Given the description of an element on the screen output the (x, y) to click on. 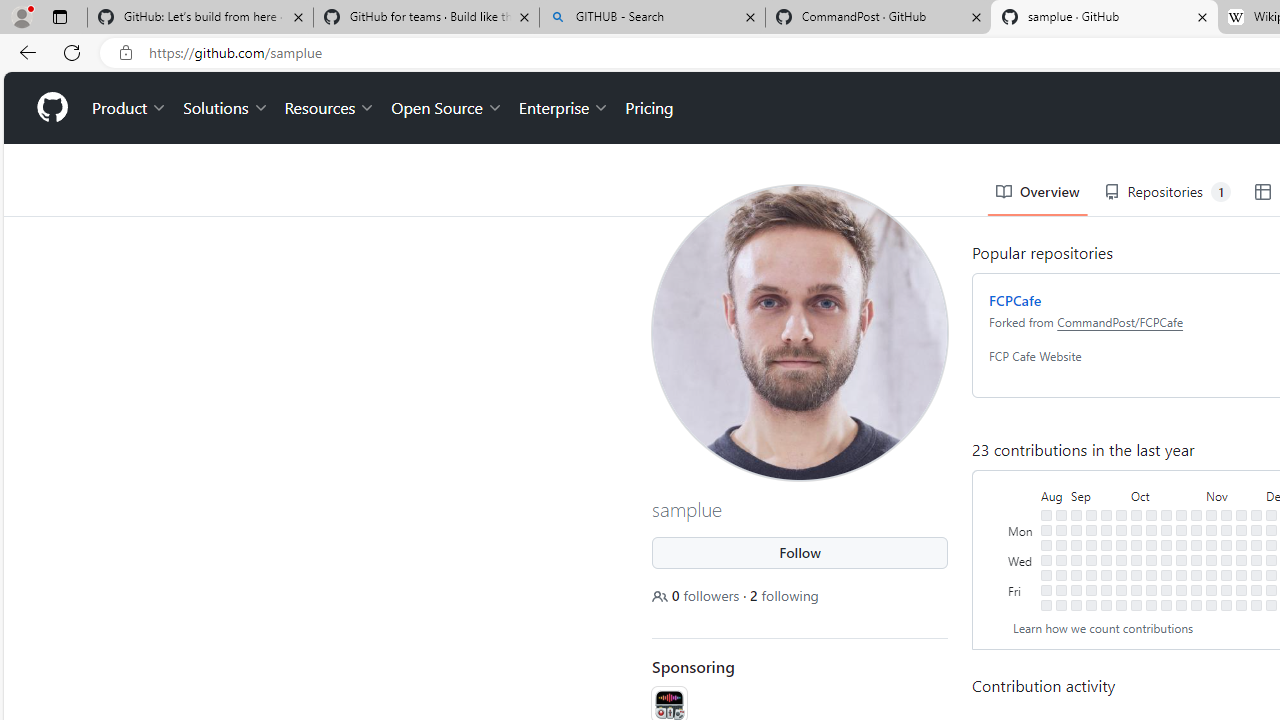
No contributions on November 18th. (1226, 605)
No contributions on October 13th. (1151, 589)
No contributions on November 9th. (1211, 574)
No contributions on October 8th. (1151, 515)
No contributions on September 4th. (1076, 529)
No contributions on September 22nd. (1106, 589)
No contributions on November 5th. (1211, 515)
No contributions on August 20th. (1046, 515)
No contributions on October 15th. (1166, 515)
October (1166, 493)
0 followers  (697, 595)
No contributions on September 12th. (1090, 544)
No contributions on October 27th. (1181, 589)
